Given the description of an element on the screen output the (x, y) to click on. 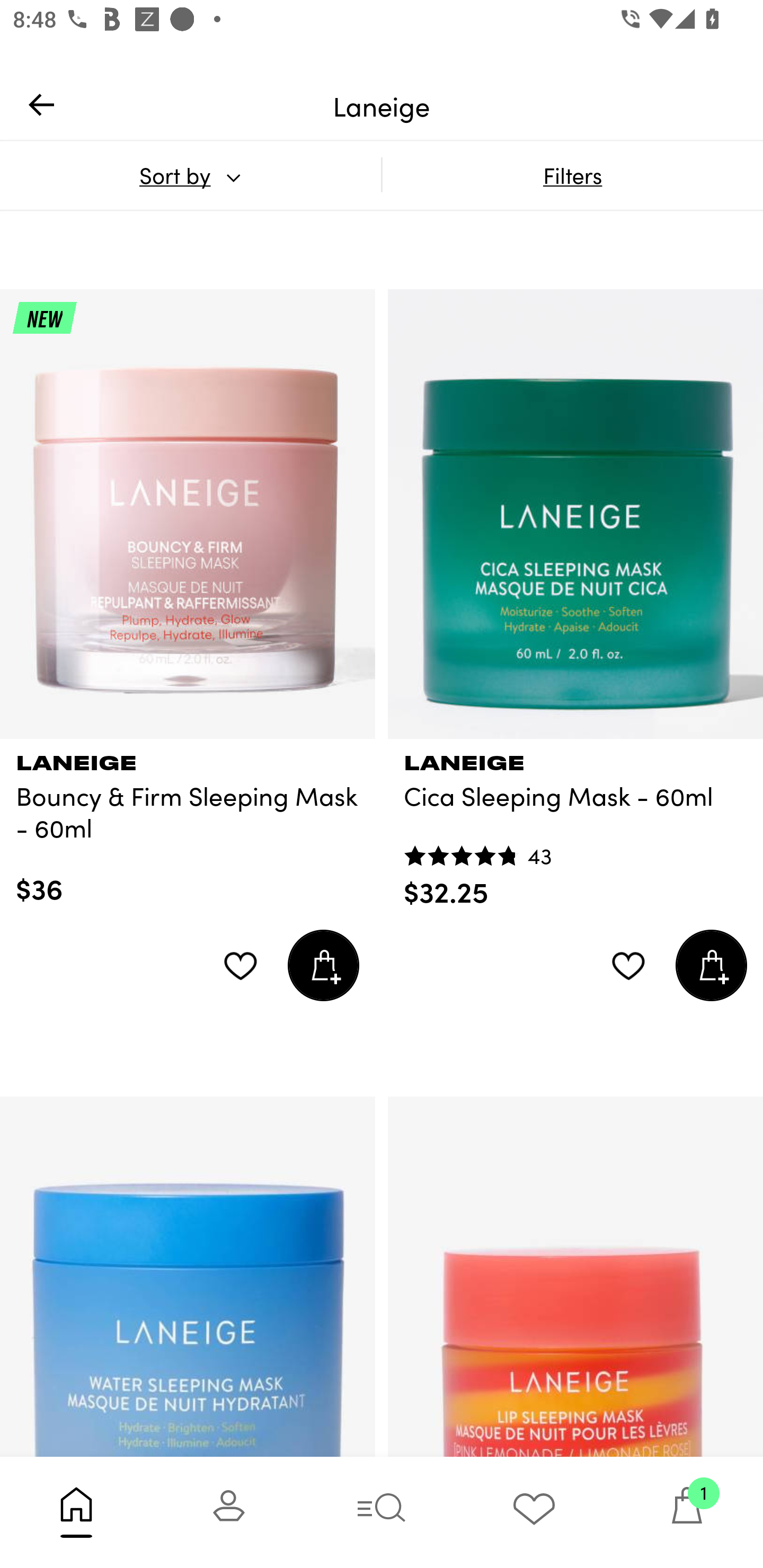
Sort by (190, 174)
Filters (572, 174)
LANEIGE Bouncy & Firm Sleeping Mask - 60ml $36 (187, 822)
LANEIGE Cica Sleeping Mask - 60ml 43 $32.25 (575, 824)
1 (686, 1512)
